Given the description of an element on the screen output the (x, y) to click on. 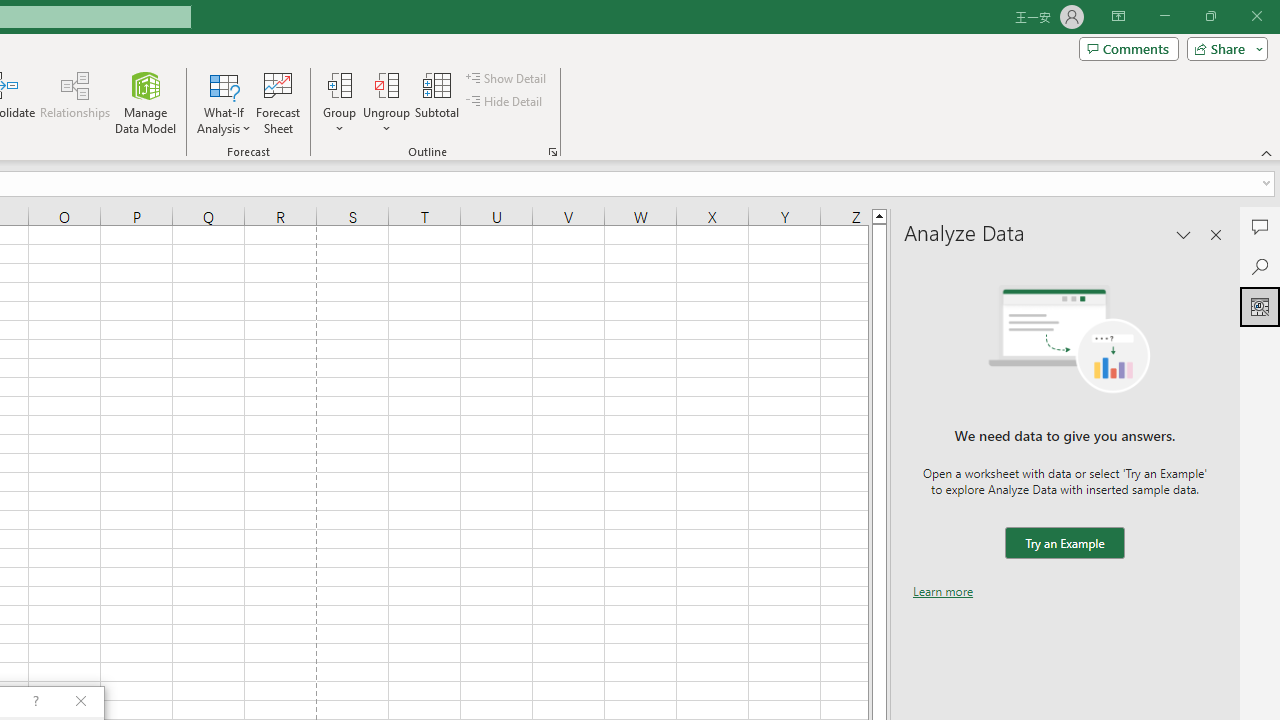
We need data to give you answers. Try an Example (1064, 543)
Hide Detail (505, 101)
Relationships (75, 102)
Ungroup... (386, 84)
Share (1223, 48)
Group and Outline Settings (552, 151)
Collapse the Ribbon (1267, 152)
Line up (879, 215)
Ribbon Display Options (1118, 16)
Restore Down (1210, 16)
Subtotal (437, 102)
